Given the description of an element on the screen output the (x, y) to click on. 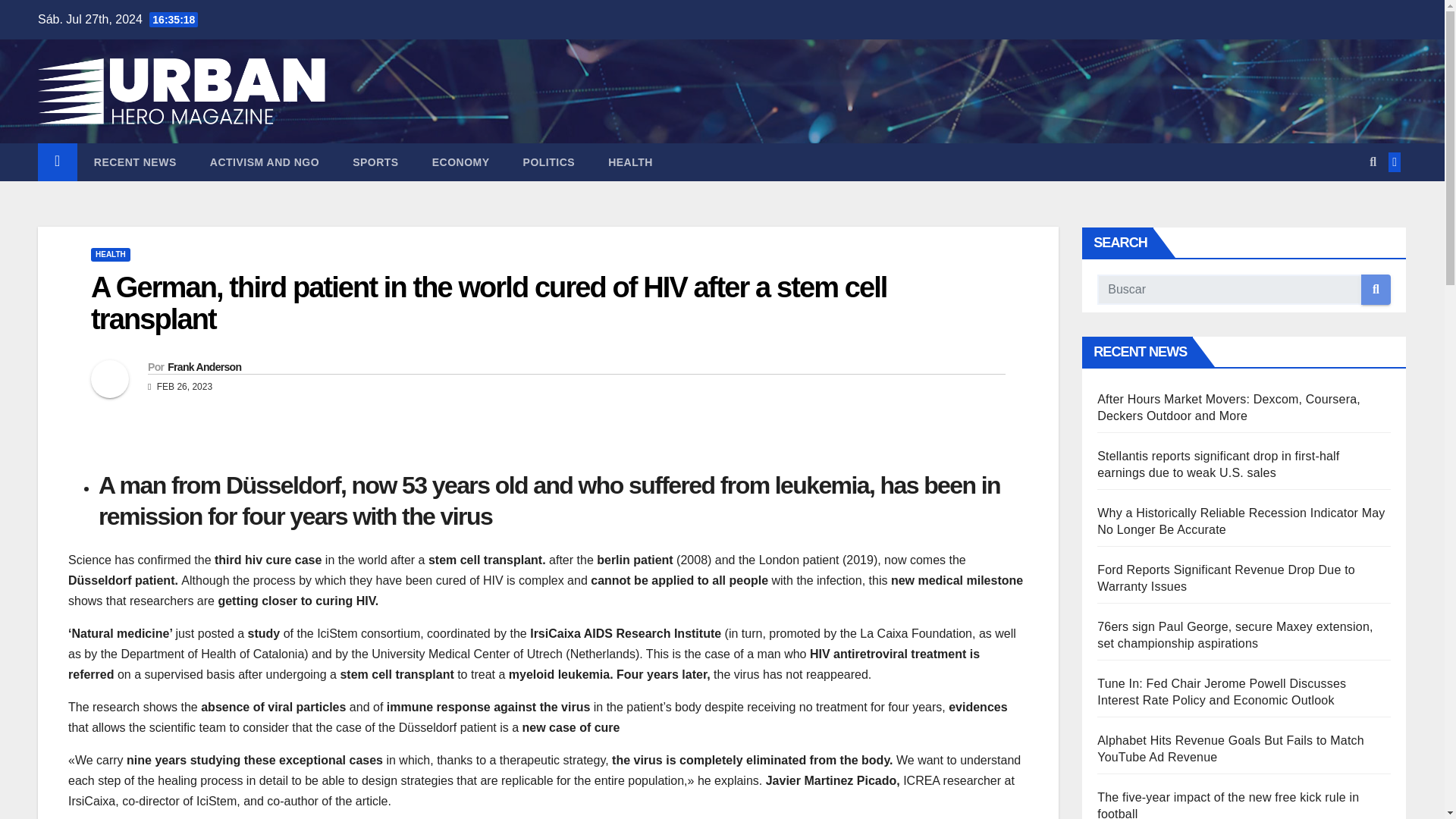
Activism and NGO (264, 161)
Politics (549, 161)
ECONOMY (460, 161)
Recent news (135, 161)
HEALTH (630, 161)
ACTIVISM AND NGO (264, 161)
HEALTH (110, 254)
Frank Anderson (204, 367)
POLITICS (549, 161)
SPORTS (375, 161)
Health (630, 161)
Economy (460, 161)
Sports (375, 161)
